Given the description of an element on the screen output the (x, y) to click on. 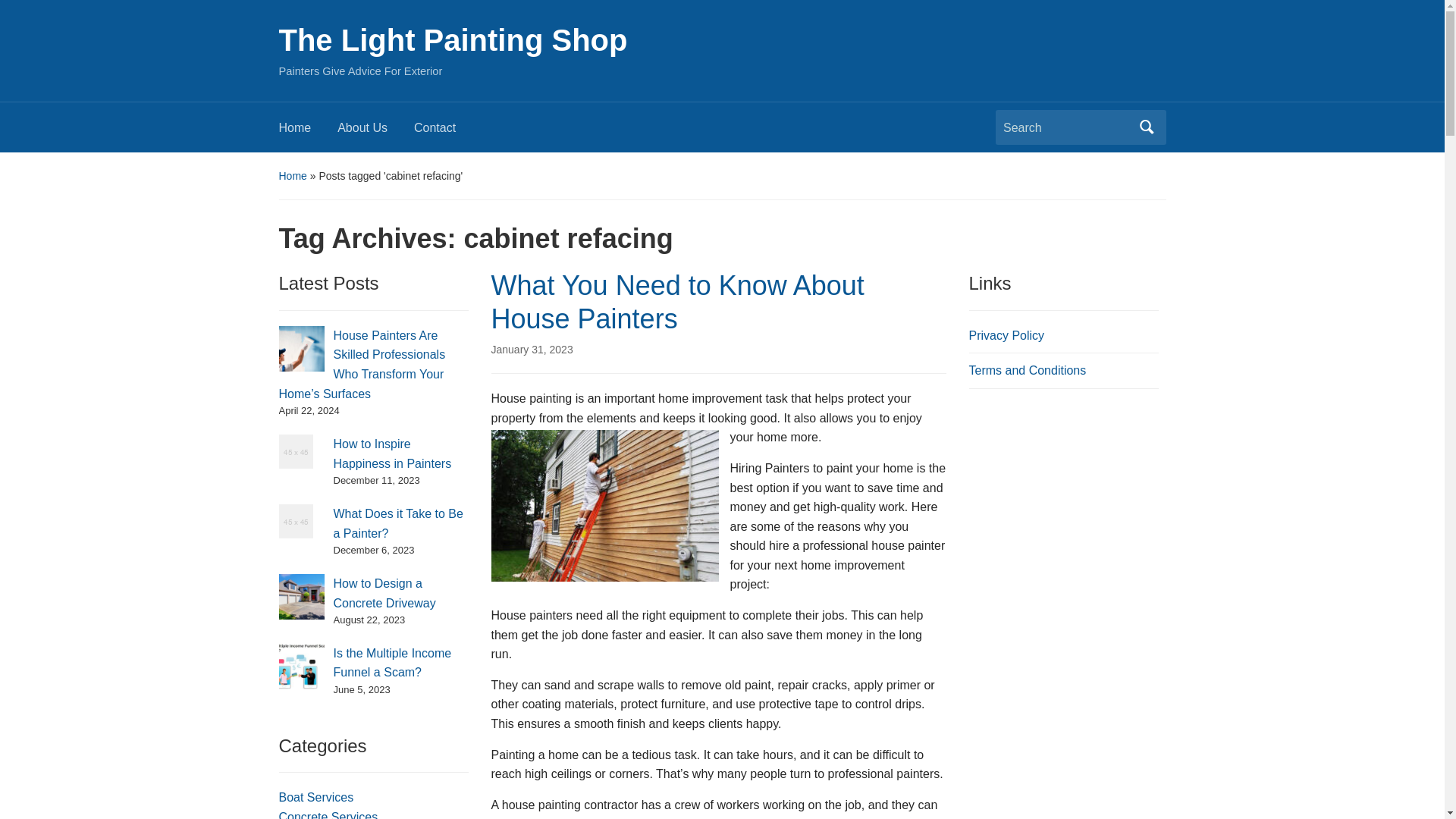
About Us (375, 131)
Contact (447, 131)
The Light Painting Shop (453, 39)
Boat Services (316, 797)
Home (293, 175)
How to Inspire Happiness in Painters (392, 453)
Home (308, 131)
What Does it Take to Be a Painter? (398, 522)
Permanent Link to What You Need to Know About House Painters (532, 349)
The Light Painting Shop - Painters Give Advice For Exterior (453, 39)
How to Design a Concrete Driveway (384, 593)
Concrete Services (328, 814)
Is the Multiple Income Funnel a Scam? (392, 663)
